Given the description of an element on the screen output the (x, y) to click on. 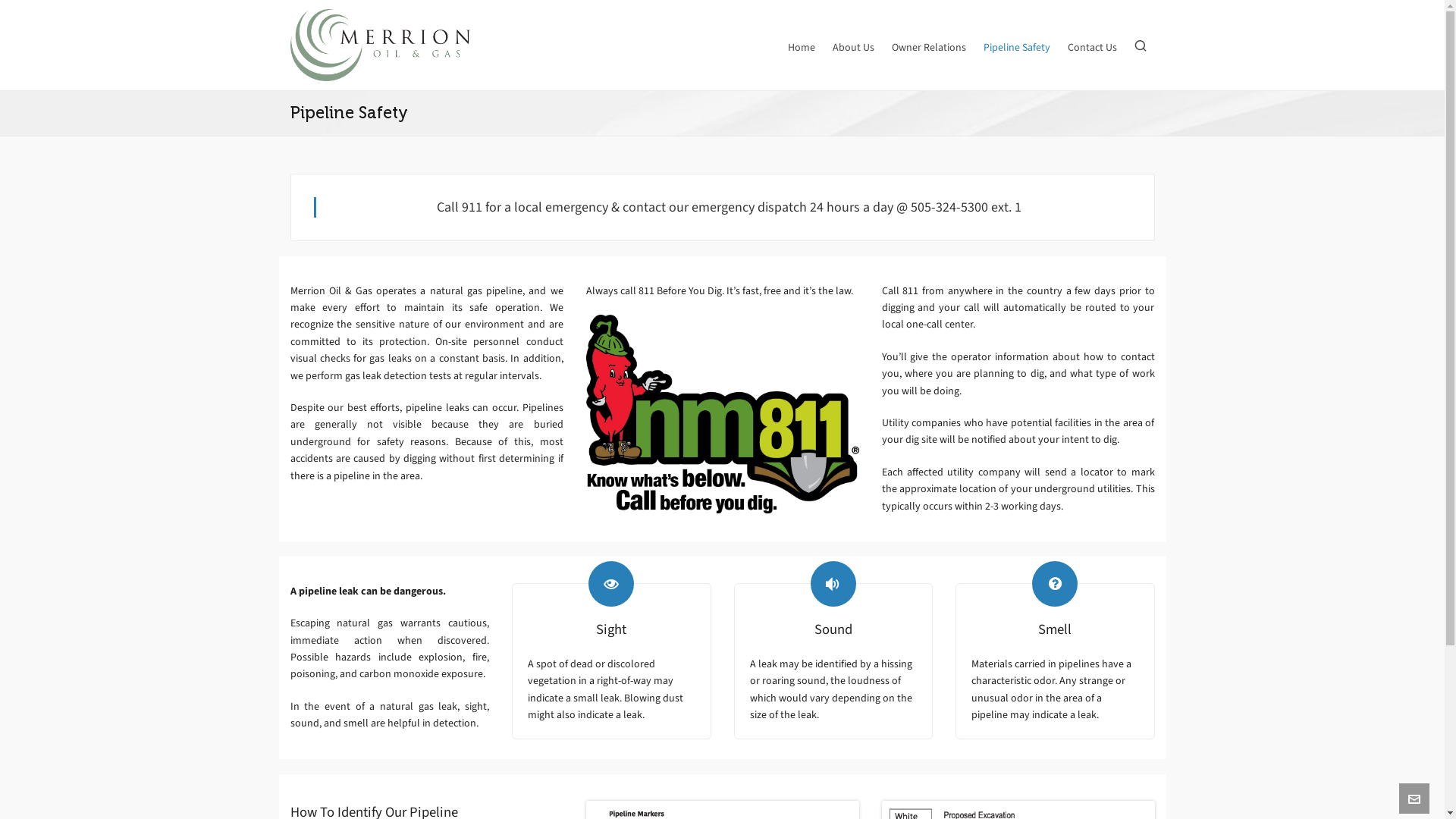
Pipeline Safety Element type: text (1016, 45)
About Us Element type: text (852, 45)
Contact Us Element type: text (1091, 45)
Owner Relations Element type: text (927, 45)
Home Element type: text (801, 45)
